Given the description of an element on the screen output the (x, y) to click on. 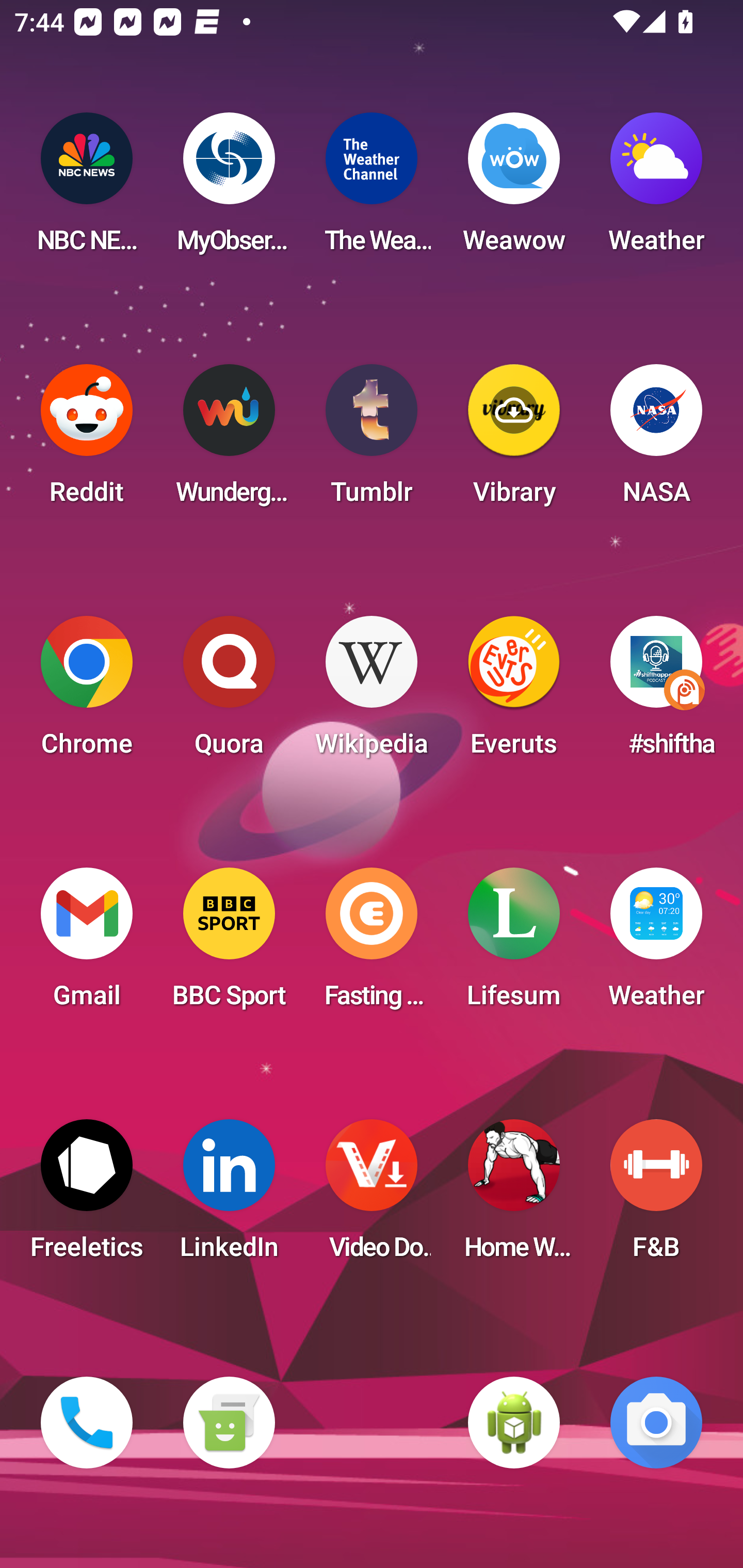
NBC NEWS (86, 188)
MyObservatory (228, 188)
The Weather Channel (371, 188)
Weawow (513, 188)
Weather (656, 188)
Reddit (86, 440)
Wunderground (228, 440)
Tumblr (371, 440)
Vibrary (513, 440)
NASA (656, 440)
Chrome (86, 692)
Quora (228, 692)
Wikipedia (371, 692)
Everuts (513, 692)
#shifthappens in the Digital Workplace Podcast (656, 692)
Gmail (86, 943)
BBC Sport (228, 943)
Fasting Coach (371, 943)
Lifesum (513, 943)
Weather (656, 943)
Freeletics (86, 1195)
LinkedIn (228, 1195)
Video Downloader & Ace Player (371, 1195)
Home Workout (513, 1195)
F&B (656, 1195)
Phone (86, 1422)
Messaging (228, 1422)
WebView Browser Tester (513, 1422)
Camera (656, 1422)
